Given the description of an element on the screen output the (x, y) to click on. 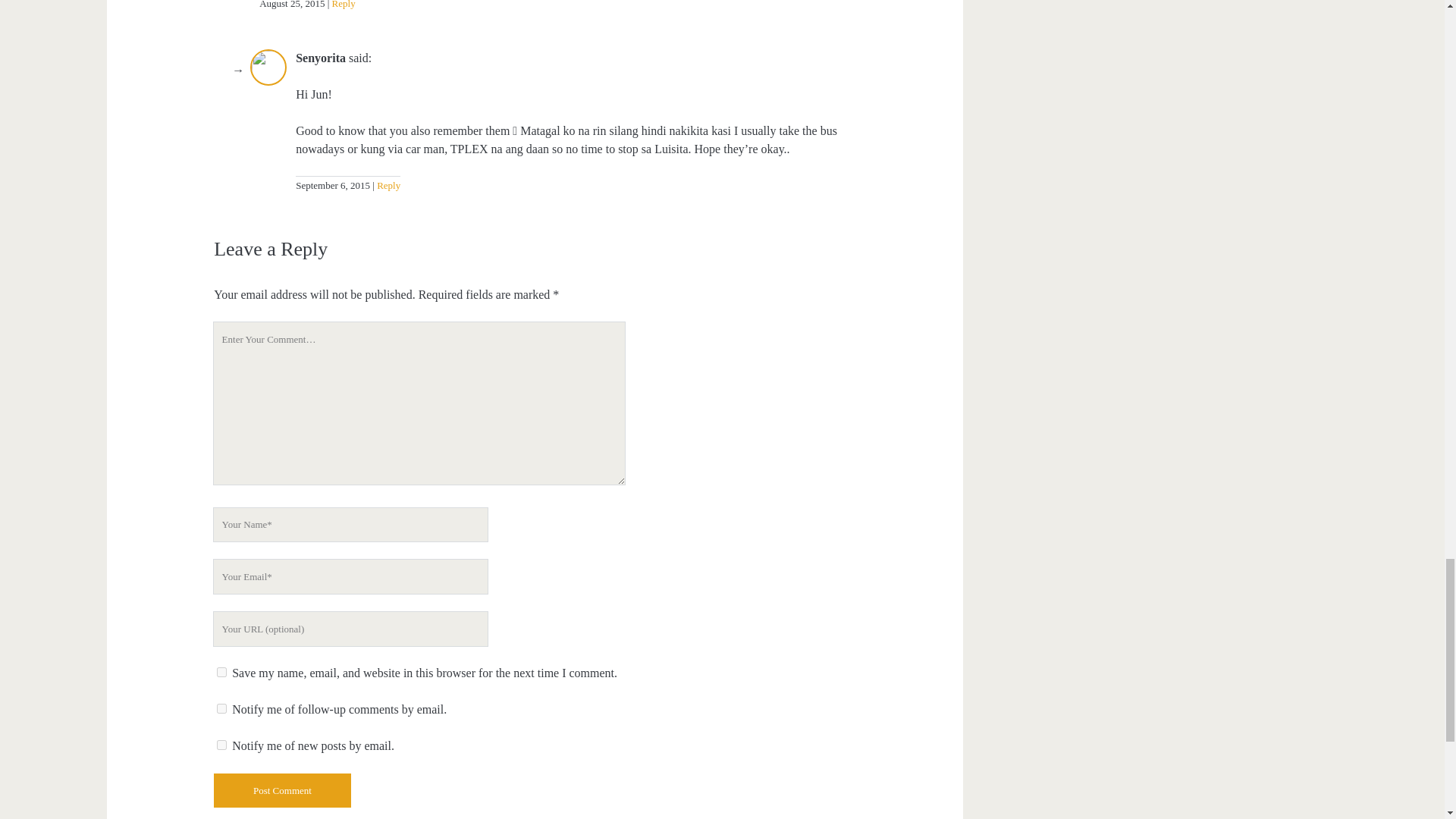
Post Comment (282, 790)
subscribe (221, 745)
subscribe (221, 708)
yes (221, 672)
